Given the description of an element on the screen output the (x, y) to click on. 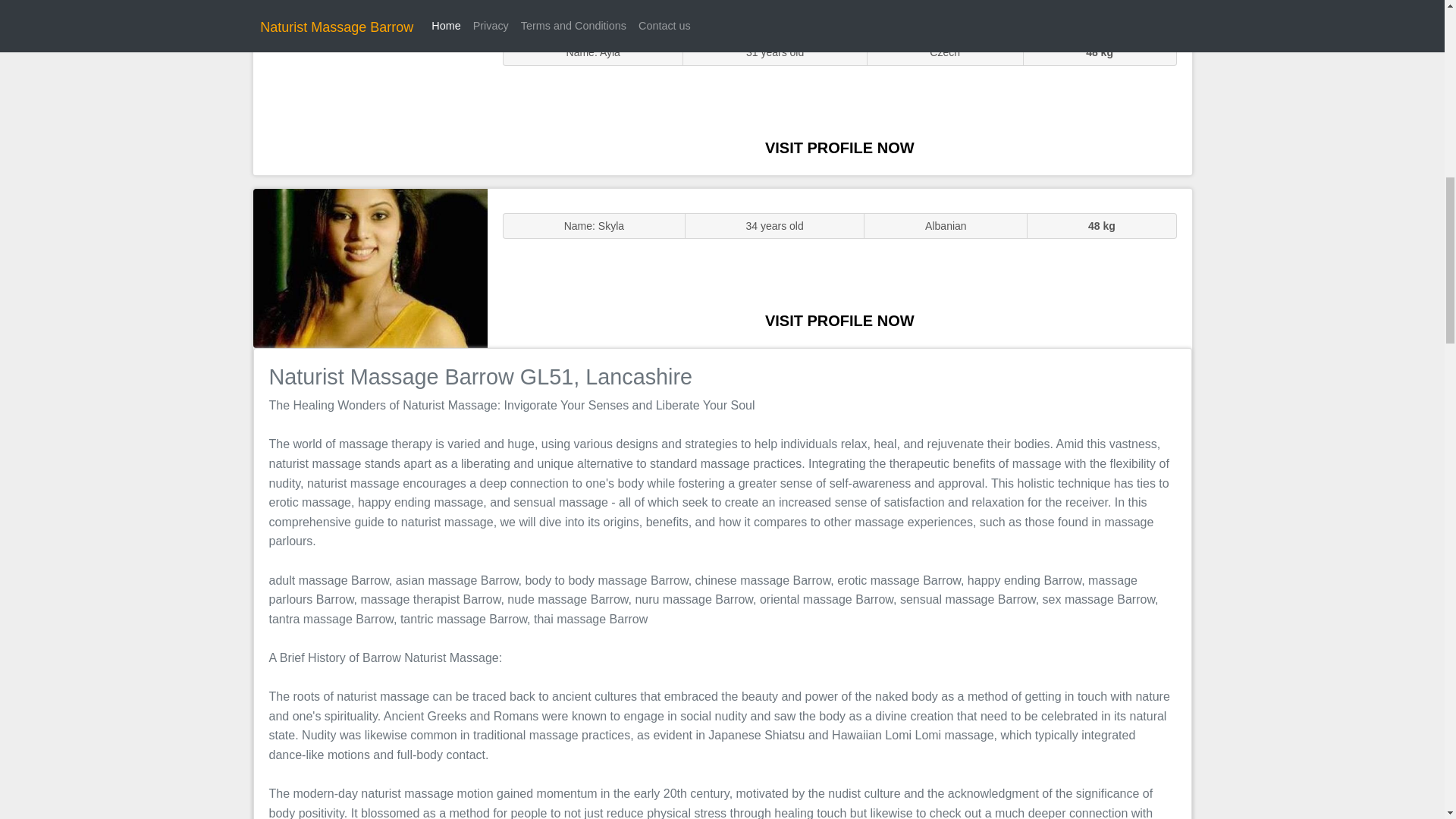
VISIT PROFILE NOW (839, 147)
Sluts (370, 94)
Massage (370, 267)
VISIT PROFILE NOW (839, 320)
